Given the description of an element on the screen output the (x, y) to click on. 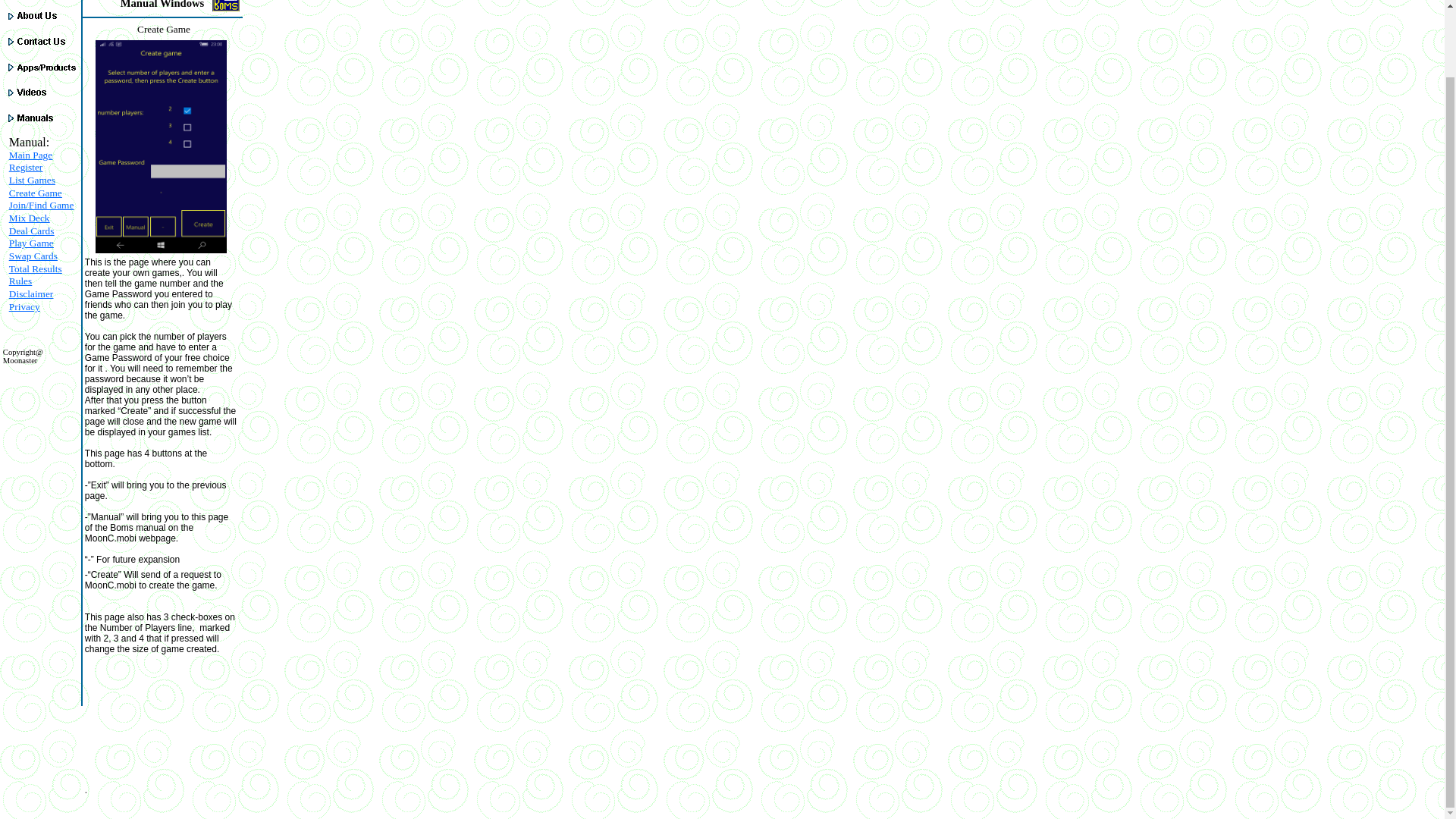
Register (25, 166)
Swap Cards (33, 255)
Total Results (35, 268)
Rules (20, 280)
Mix Deck (28, 217)
List Games (31, 179)
Disclaimer (30, 293)
Privacy (24, 306)
Main Page (30, 154)
Play Game (30, 242)
Create Game (35, 193)
Deal Cards (31, 230)
